Given the description of an element on the screen output the (x, y) to click on. 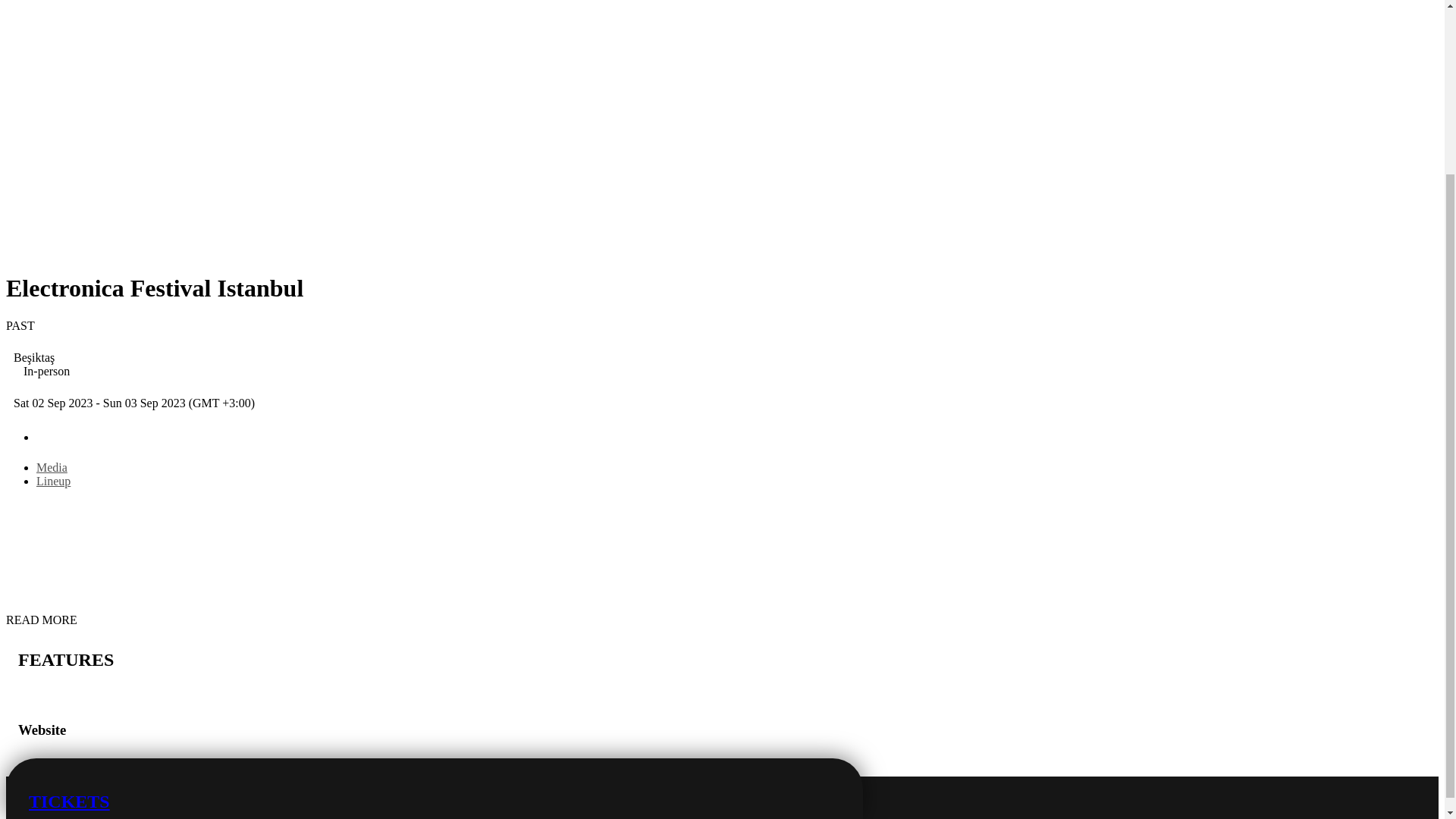
Lineup (52, 481)
Media (51, 467)
TICKETS (434, 557)
About (426, 435)
